Given the description of an element on the screen output the (x, y) to click on. 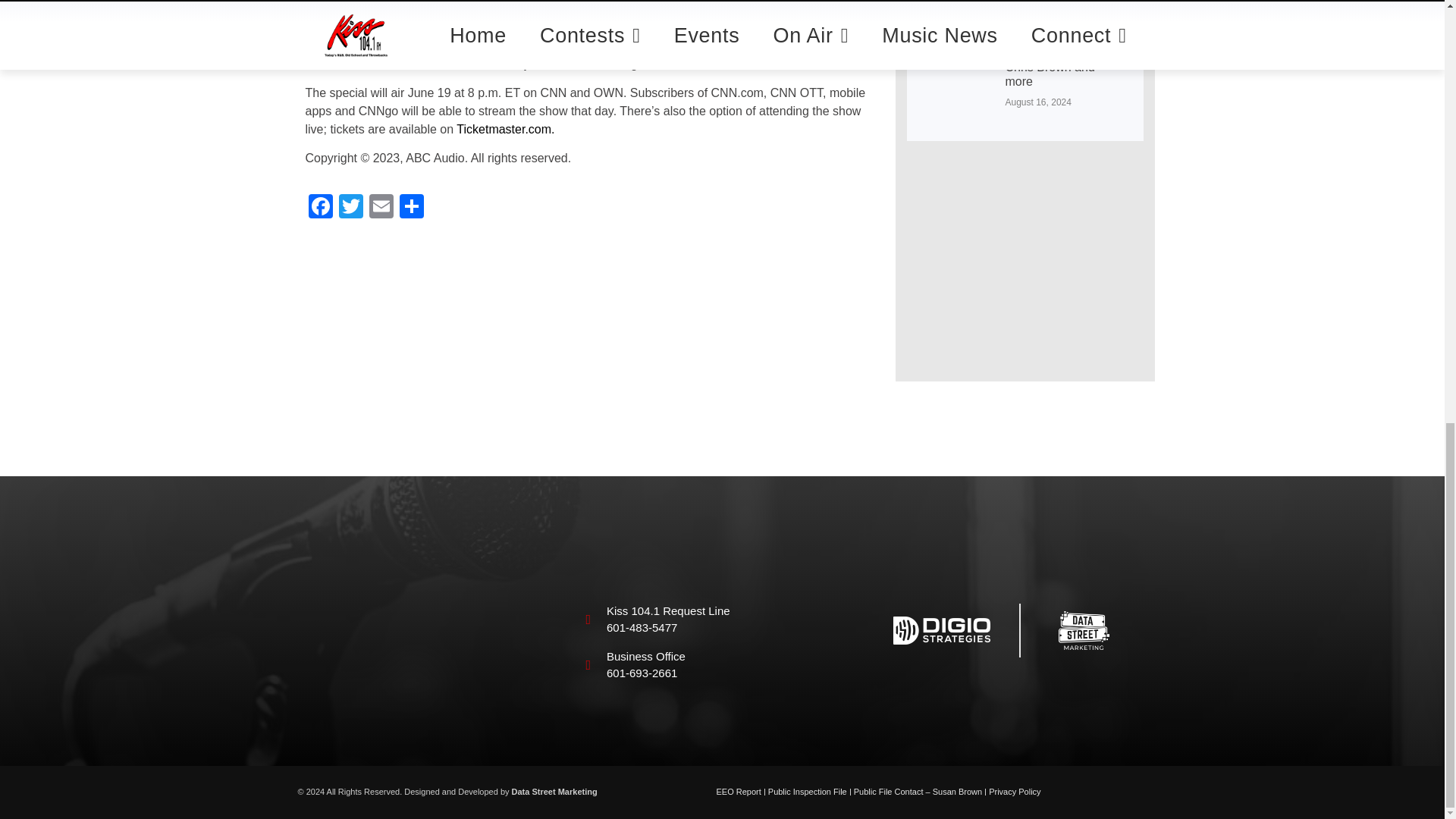
Email (380, 207)
Facebook (319, 207)
Twitter (349, 207)
